Given the description of an element on the screen output the (x, y) to click on. 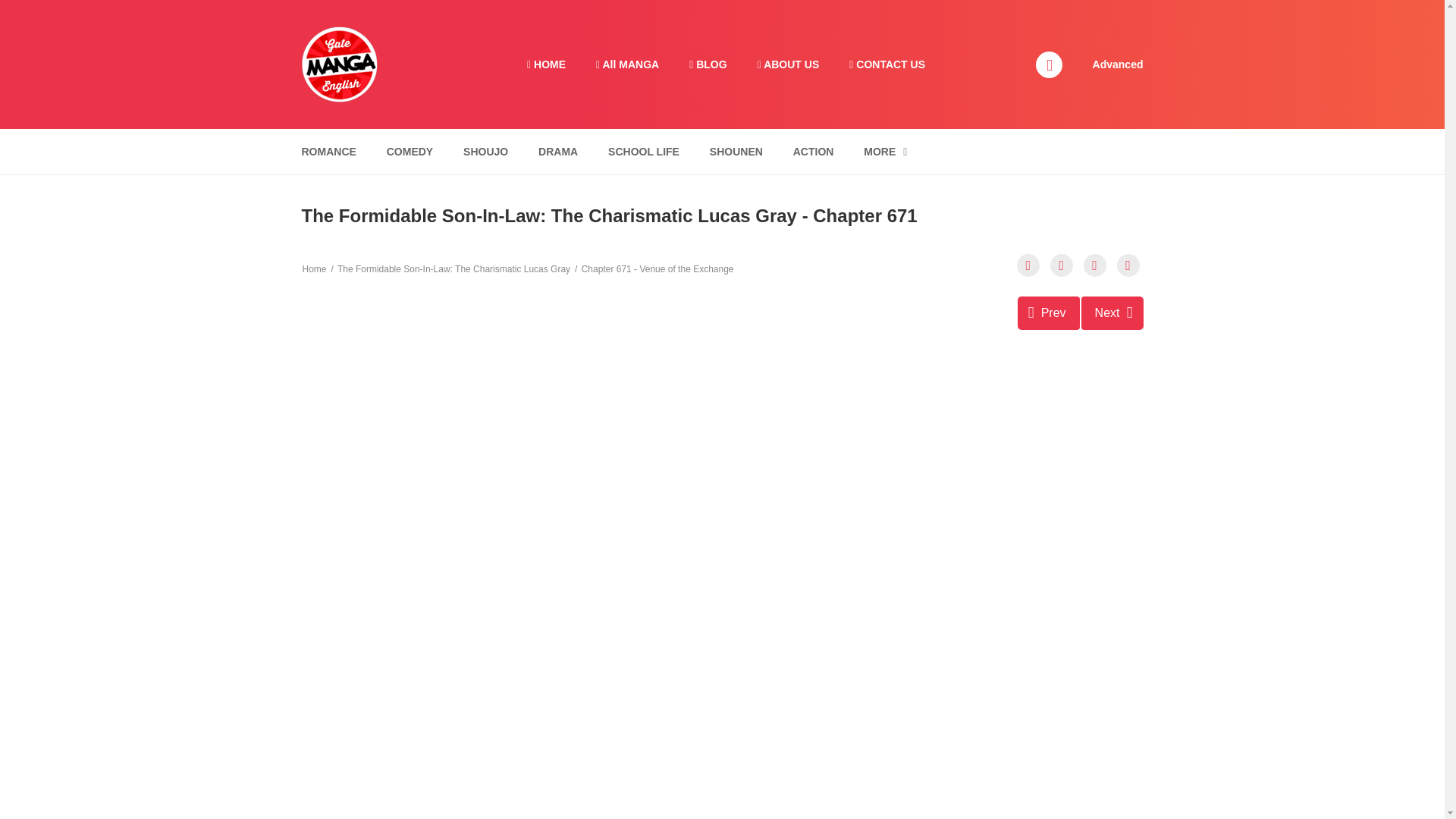
Chapter 670 (1048, 313)
ACTION (813, 151)
All MANGA (627, 64)
Advanced (1117, 63)
SHOUNEN (736, 151)
Gate Manga (339, 63)
ROMANCE (328, 151)
Chapter 672 (1111, 313)
MORE (885, 151)
BLOG (707, 64)
HOME (546, 64)
DRAMA (558, 151)
Bookmark (1094, 264)
SCHOOL LIFE (643, 151)
COMEDY (409, 151)
